Given the description of an element on the screen output the (x, y) to click on. 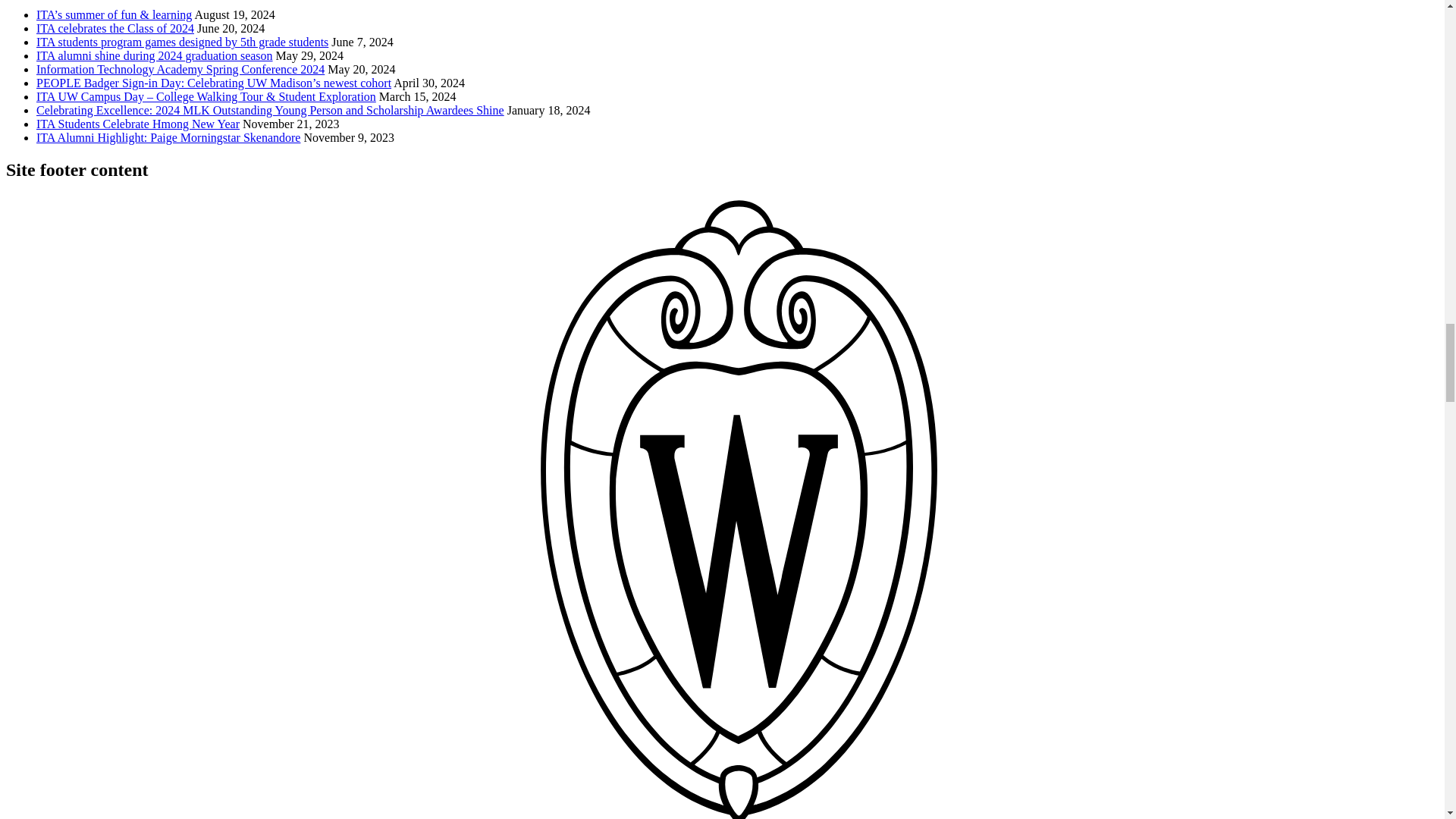
ITA students program games designed by 5th grade students (182, 42)
Information Technology Academy Spring Conference 2024 (180, 69)
ITA celebrates the Class of 2024 (114, 28)
ITA Students Celebrate Hmong New Year (138, 123)
ITA Alumni Highlight: Paige Morningstar Skenandore (167, 137)
ITA alumni shine during 2024 graduation season (154, 55)
